Given the description of an element on the screen output the (x, y) to click on. 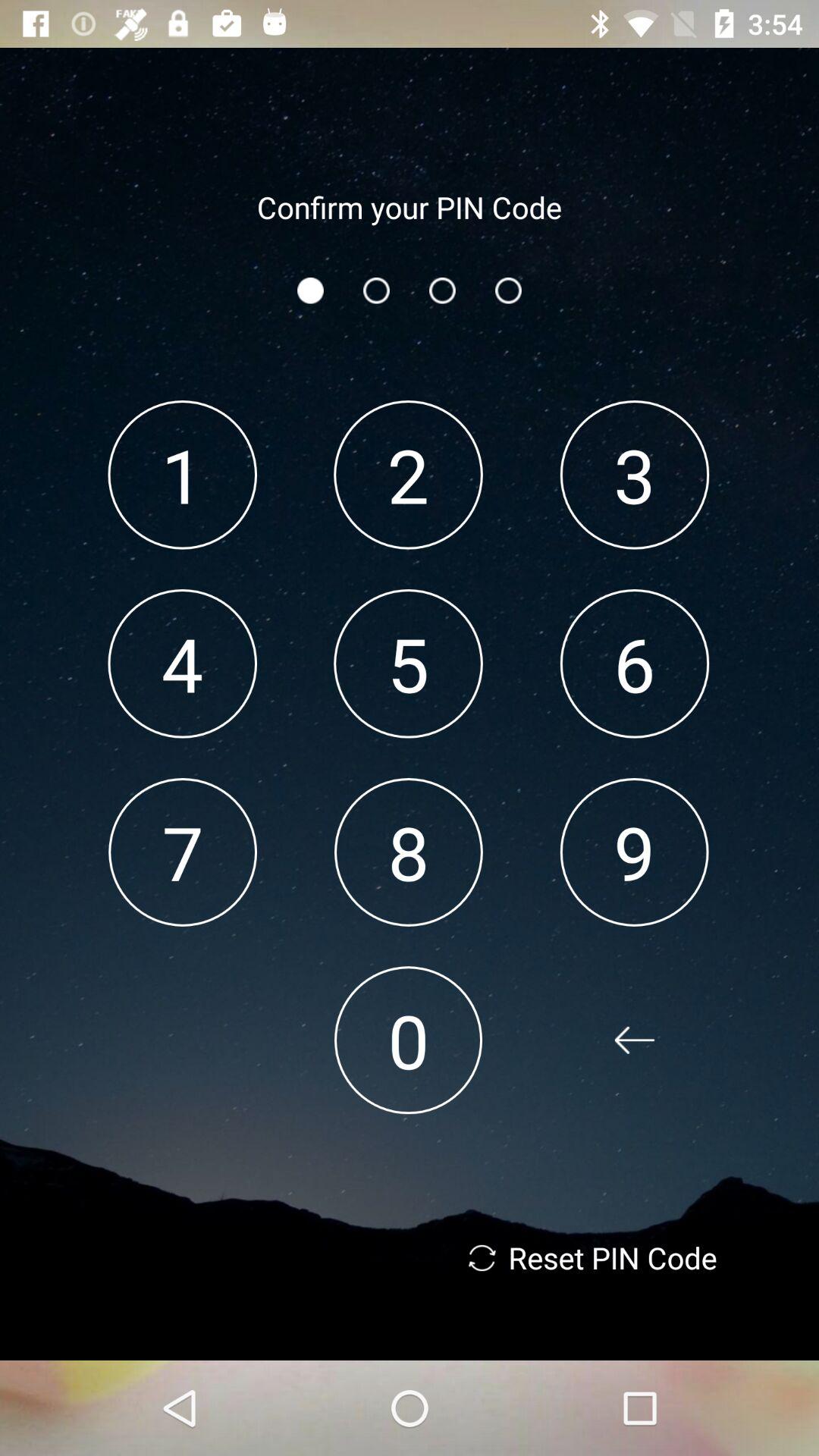
select the item below the 3 (634, 663)
